Given the description of an element on the screen output the (x, y) to click on. 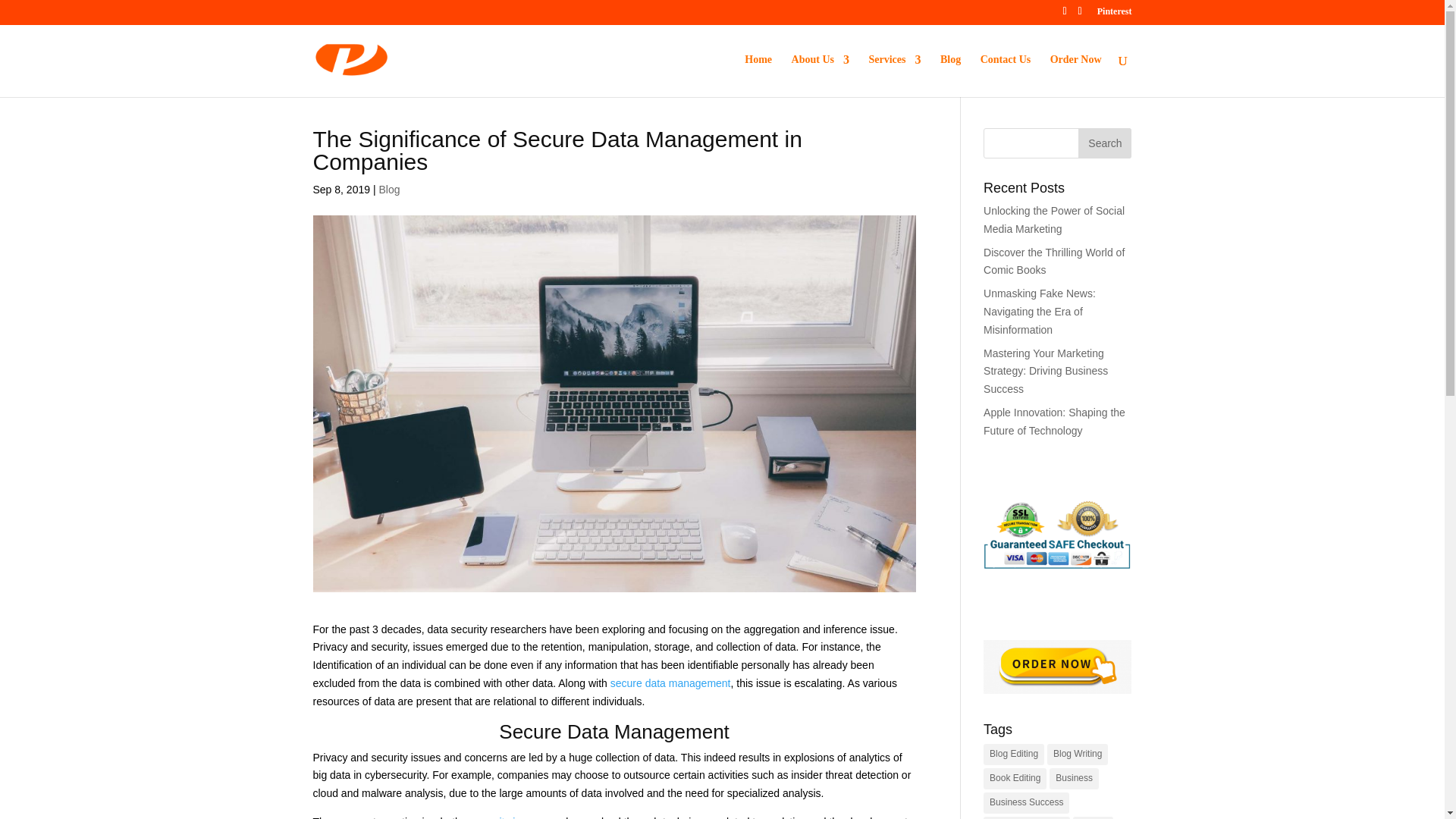
Search (1104, 142)
secure data management (670, 683)
security issues (508, 817)
About Us (820, 75)
Unmasking Fake News: Navigating the Era of Misinformation (1040, 311)
Apple Innovation: Shaping the Future of Technology (1054, 421)
Pinterest (1114, 14)
Services (893, 75)
Mastering Your Marketing Strategy: Driving Business Success (1046, 371)
Order Now (1075, 75)
Blog (388, 189)
Discover the Thrilling World of Comic Books (1054, 261)
Search (1104, 142)
Contact Us (1004, 75)
Blog Editing (1013, 753)
